Given the description of an element on the screen output the (x, y) to click on. 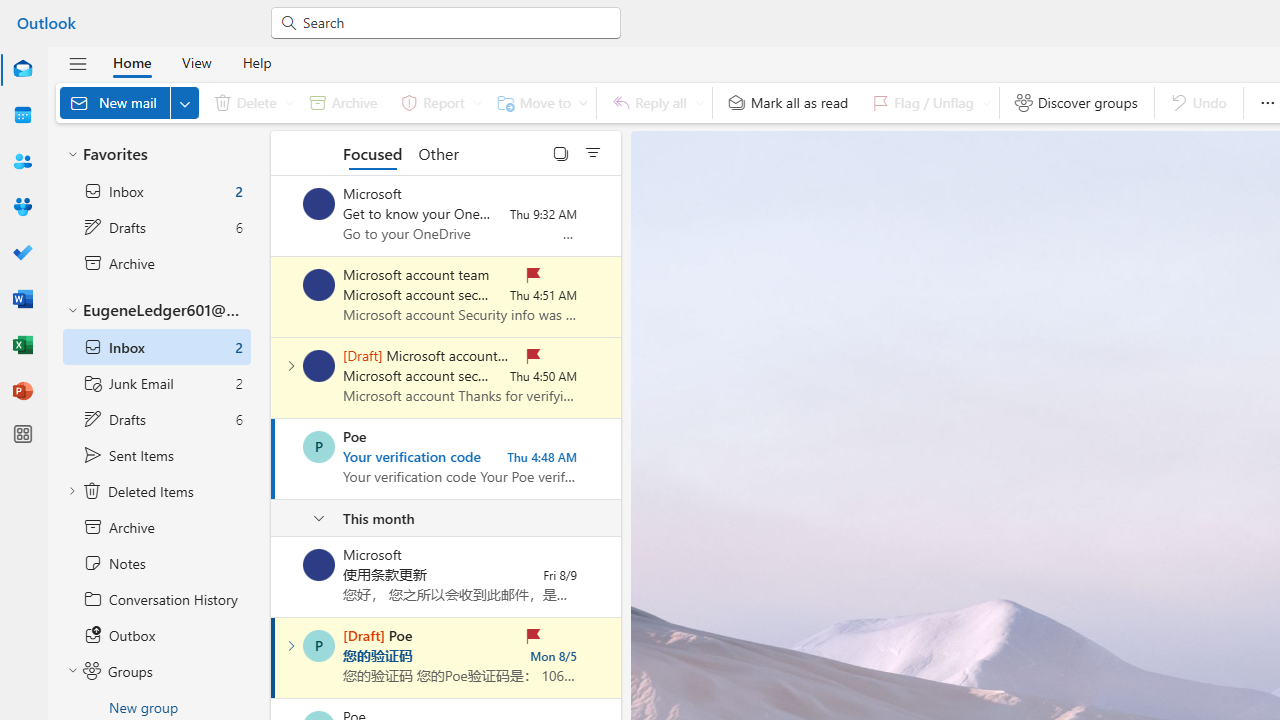
View (196, 61)
Word (22, 298)
Excel (22, 345)
Undo (1198, 102)
Select (561, 152)
People (22, 161)
Search for email, meetings, files and more. (454, 21)
Expand to see more respond options (699, 102)
Word (22, 299)
Reply all (654, 102)
Microsoft account team (319, 365)
Archive (343, 102)
Flag / Unflag (927, 102)
Mark as read (273, 657)
